Given the description of an element on the screen output the (x, y) to click on. 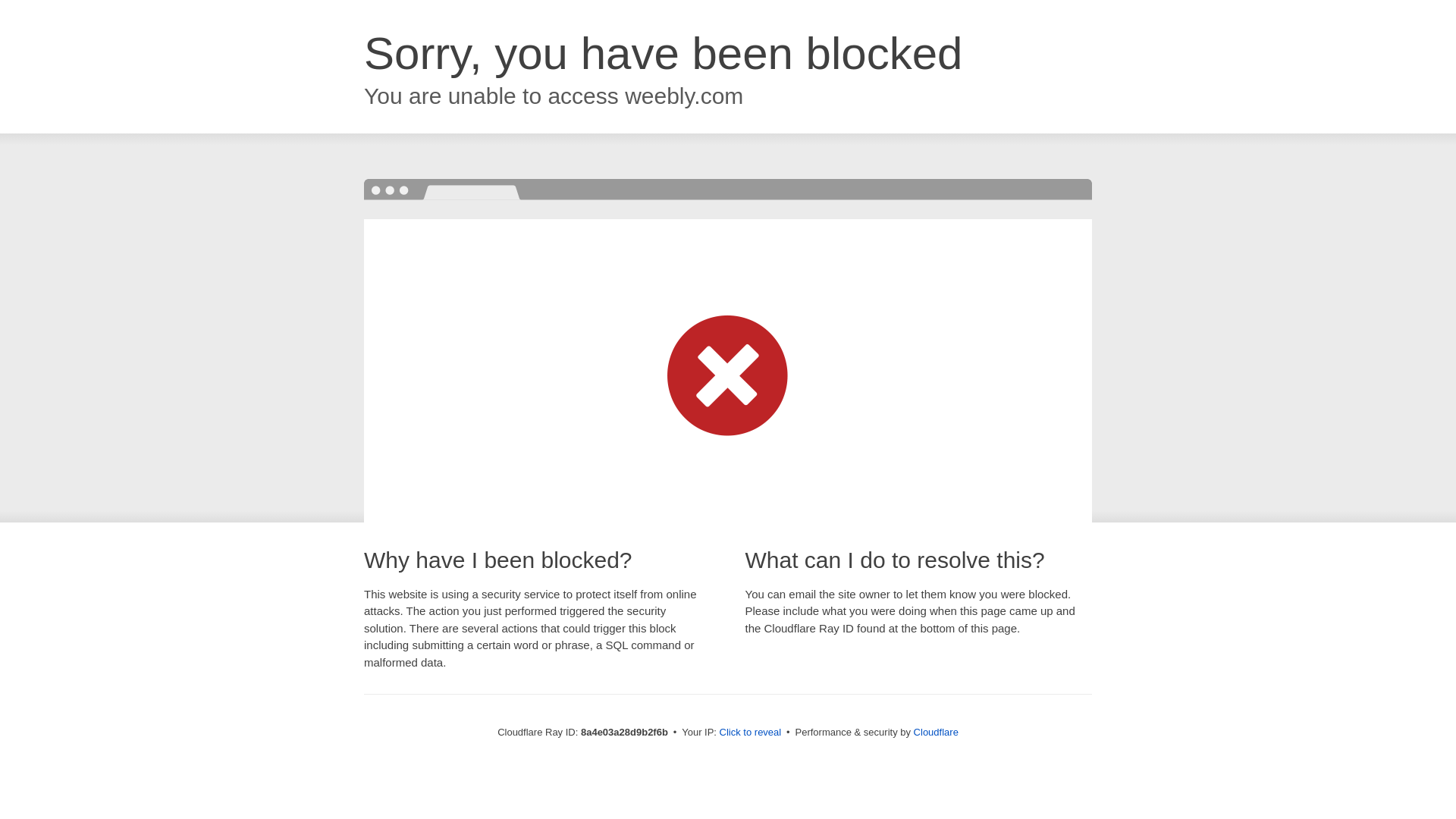
Cloudflare (936, 731)
Click to reveal (750, 732)
